Given the description of an element on the screen output the (x, y) to click on. 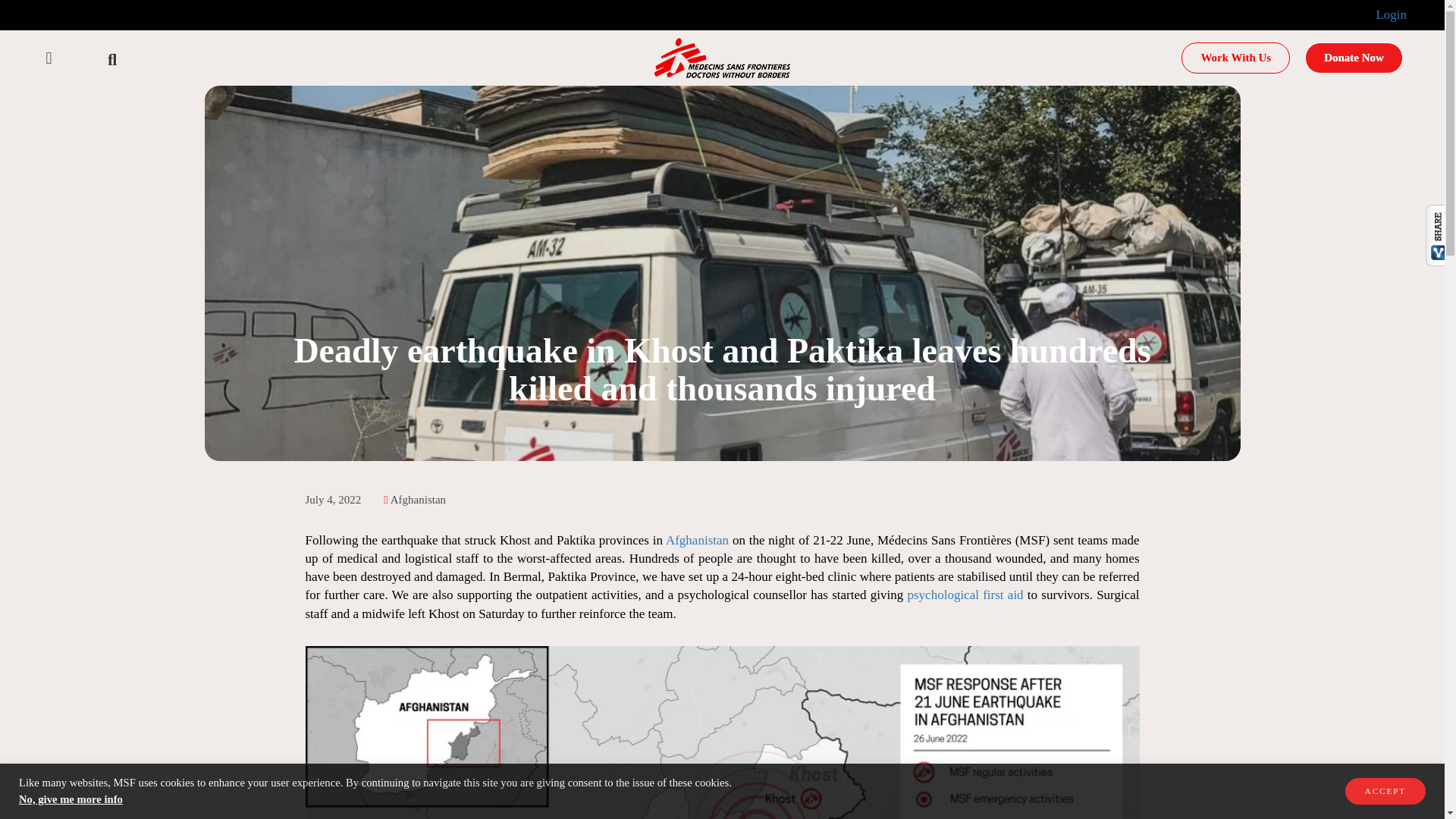
Donate Now (1353, 57)
Work With Us (1235, 57)
